Given the description of an element on the screen output the (x, y) to click on. 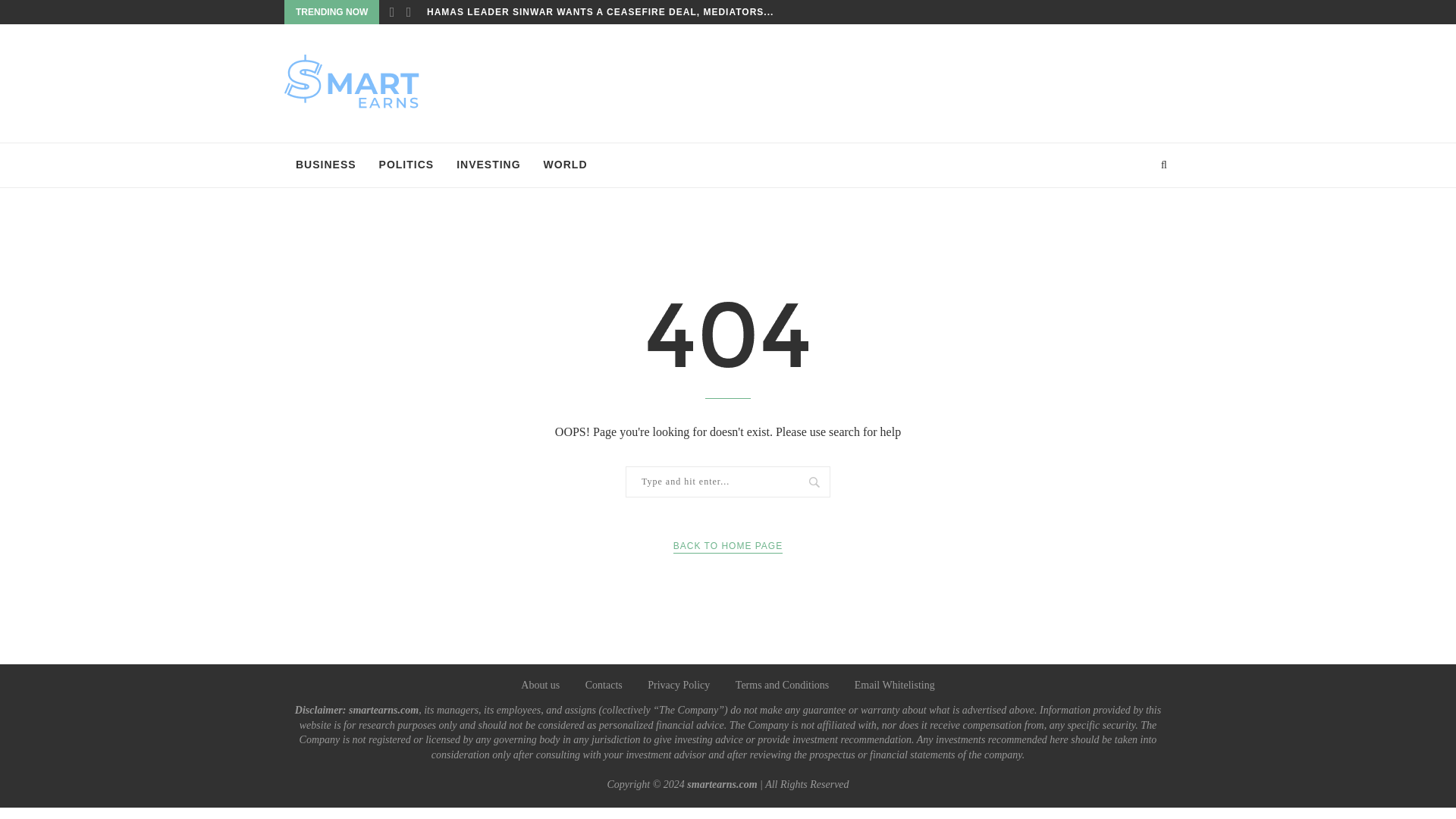
BUSINESS (325, 165)
BACK TO HOME PAGE (727, 545)
HAMAS LEADER SINWAR WANTS A CEASEFIRE DEAL, MEDIATORS... (599, 12)
WORLD (565, 165)
Email Whitelisting (894, 685)
Contacts (604, 685)
Privacy Policy (678, 685)
Terms and Conditions (781, 685)
About us (540, 685)
INVESTING (488, 165)
